Given the description of an element on the screen output the (x, y) to click on. 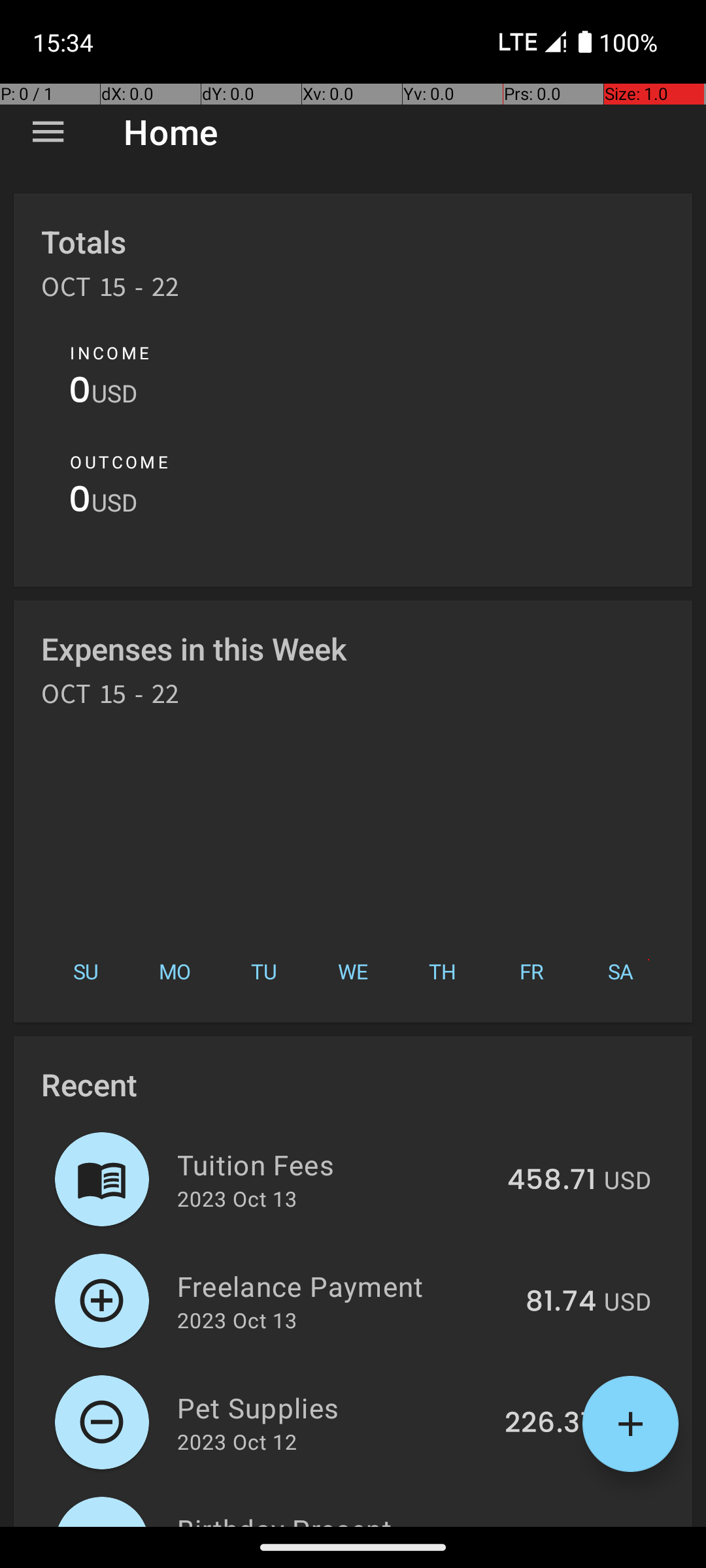
Tuition Fees Element type: android.widget.TextView (334, 1164)
458.71 Element type: android.widget.TextView (551, 1180)
81.74 Element type: android.widget.TextView (560, 1301)
Pet Supplies Element type: android.widget.TextView (333, 1407)
226.37 Element type: android.widget.TextView (550, 1423)
Birthday Present Element type: android.widget.TextView (335, 1518)
139.74 Element type: android.widget.TextView (551, 1524)
